Given the description of an element on the screen output the (x, y) to click on. 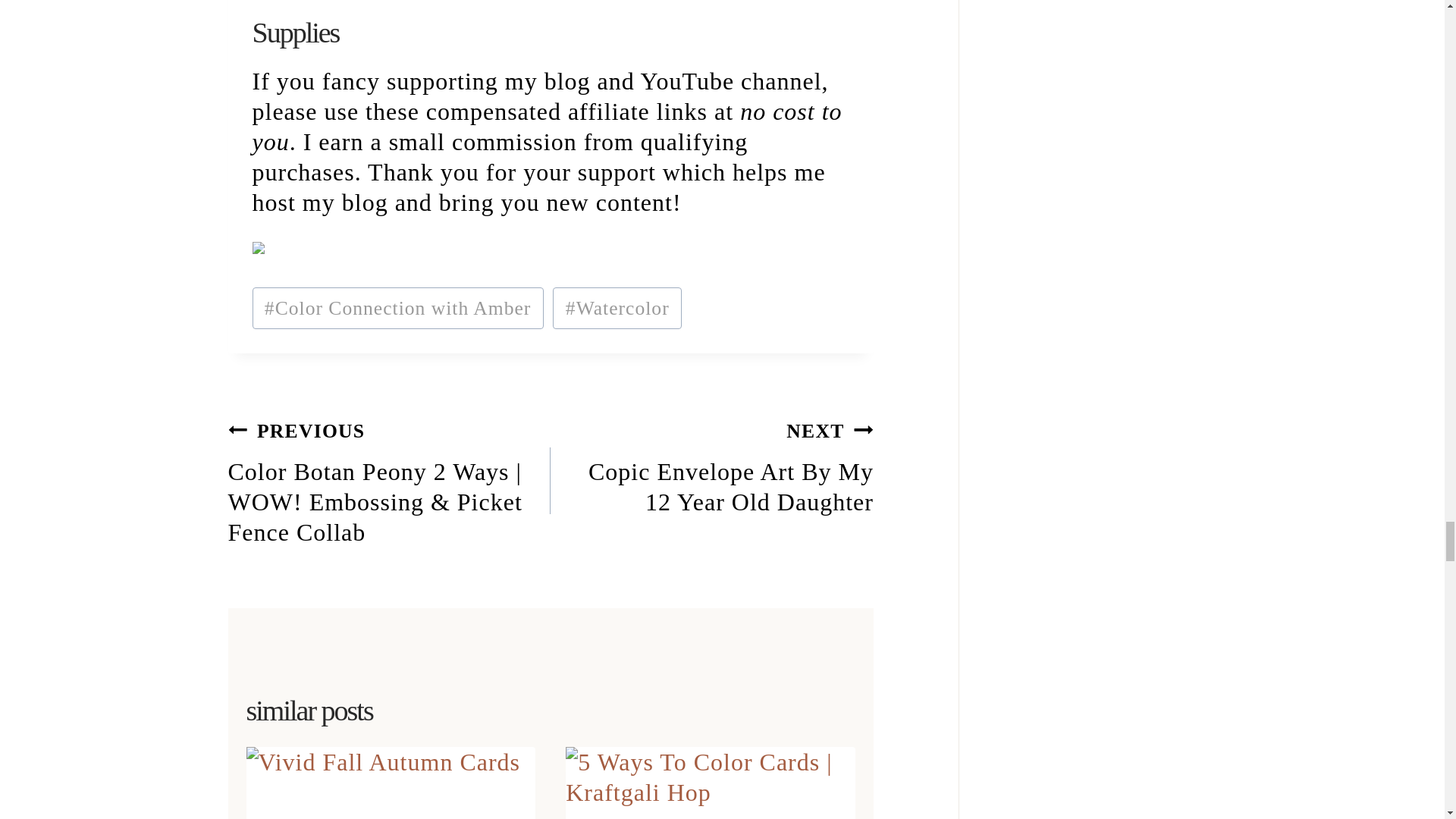
Color Connection with Amber (397, 307)
Watercolor (711, 465)
